Given the description of an element on the screen output the (x, y) to click on. 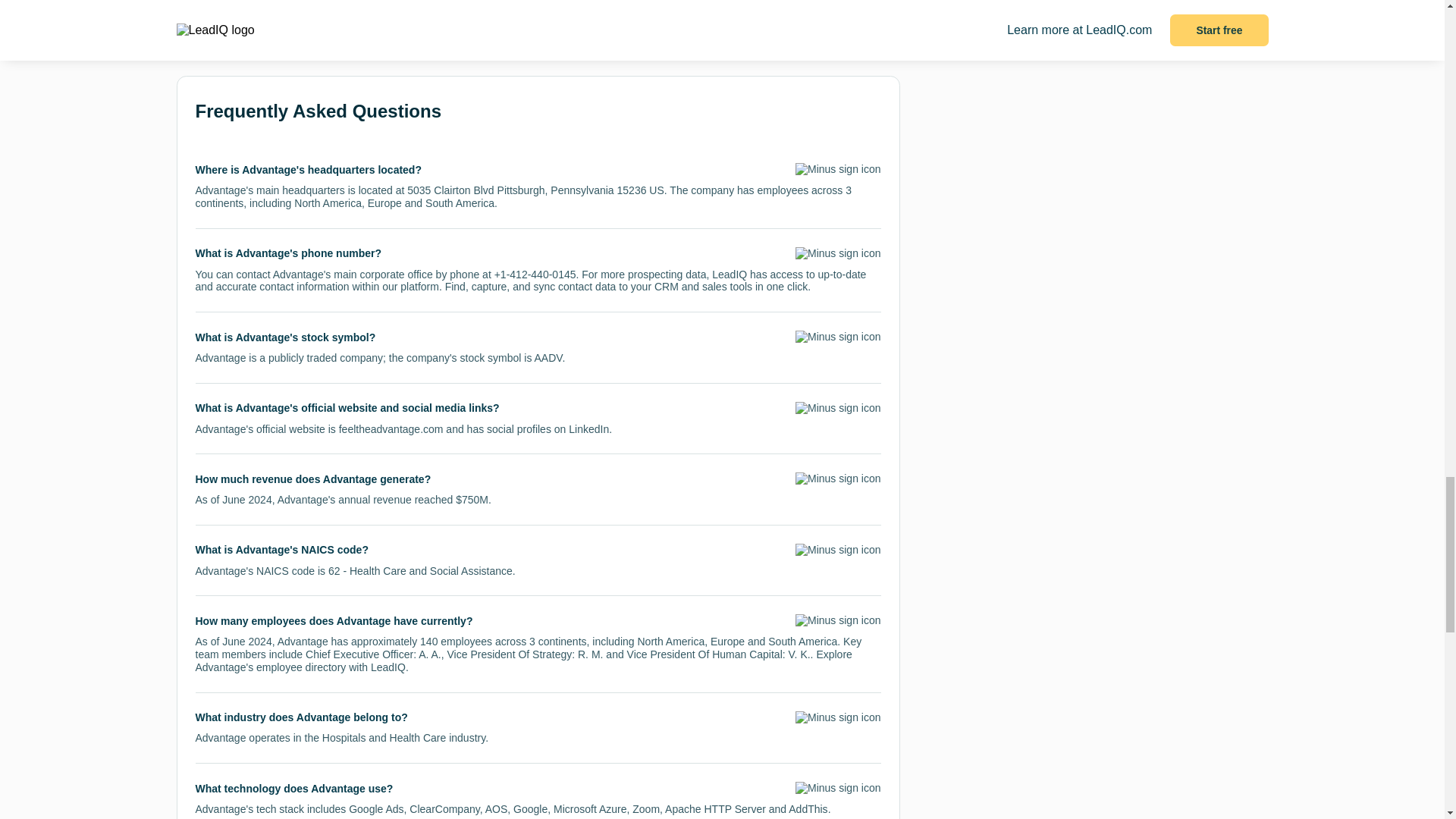
See more formats (249, 17)
See more formats (249, 16)
feeltheadvantage.com (391, 428)
LinkedIn (588, 428)
Advantage's employee directory (270, 666)
